Given the description of an element on the screen output the (x, y) to click on. 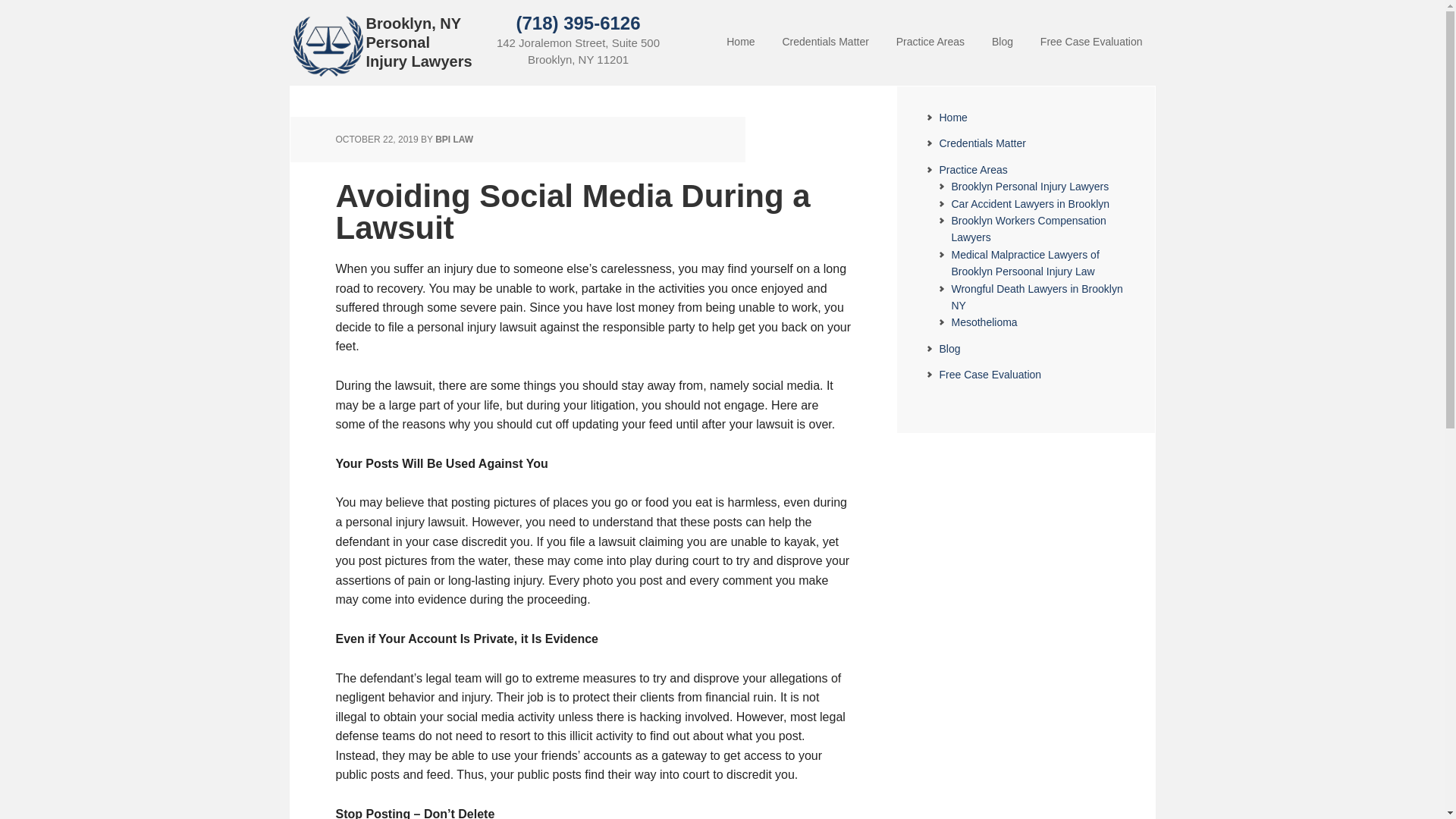
Credentials Matter (982, 143)
Free Case Evaluation (1090, 42)
Credentials Matter (825, 42)
Wrongful Death Lawyers in Brooklyn NY (1036, 297)
Practice Areas (973, 169)
Home (952, 117)
Practice Areas (929, 42)
BPI LAW (454, 139)
Free Case Evaluation (990, 374)
Mesothelioma (983, 322)
